Given the description of an element on the screen output the (x, y) to click on. 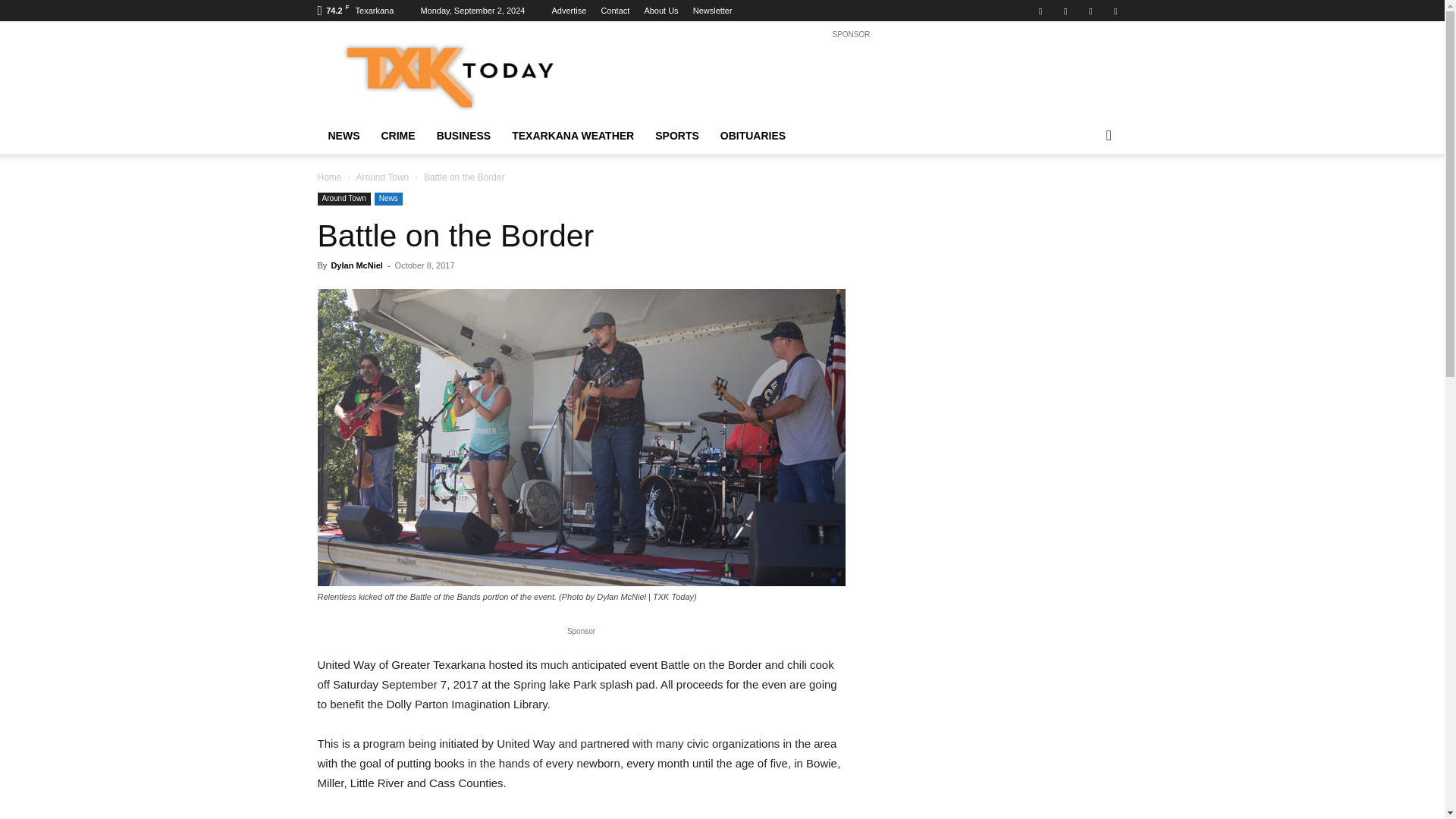
CRIME (397, 135)
Advertise (568, 10)
Newsletter (712, 10)
News (388, 198)
Around Town (382, 176)
Pinterest (1065, 10)
View all posts in Around Town (382, 176)
Youtube (1114, 10)
Twitter (1090, 10)
SPORTS (677, 135)
